Given the description of an element on the screen output the (x, y) to click on. 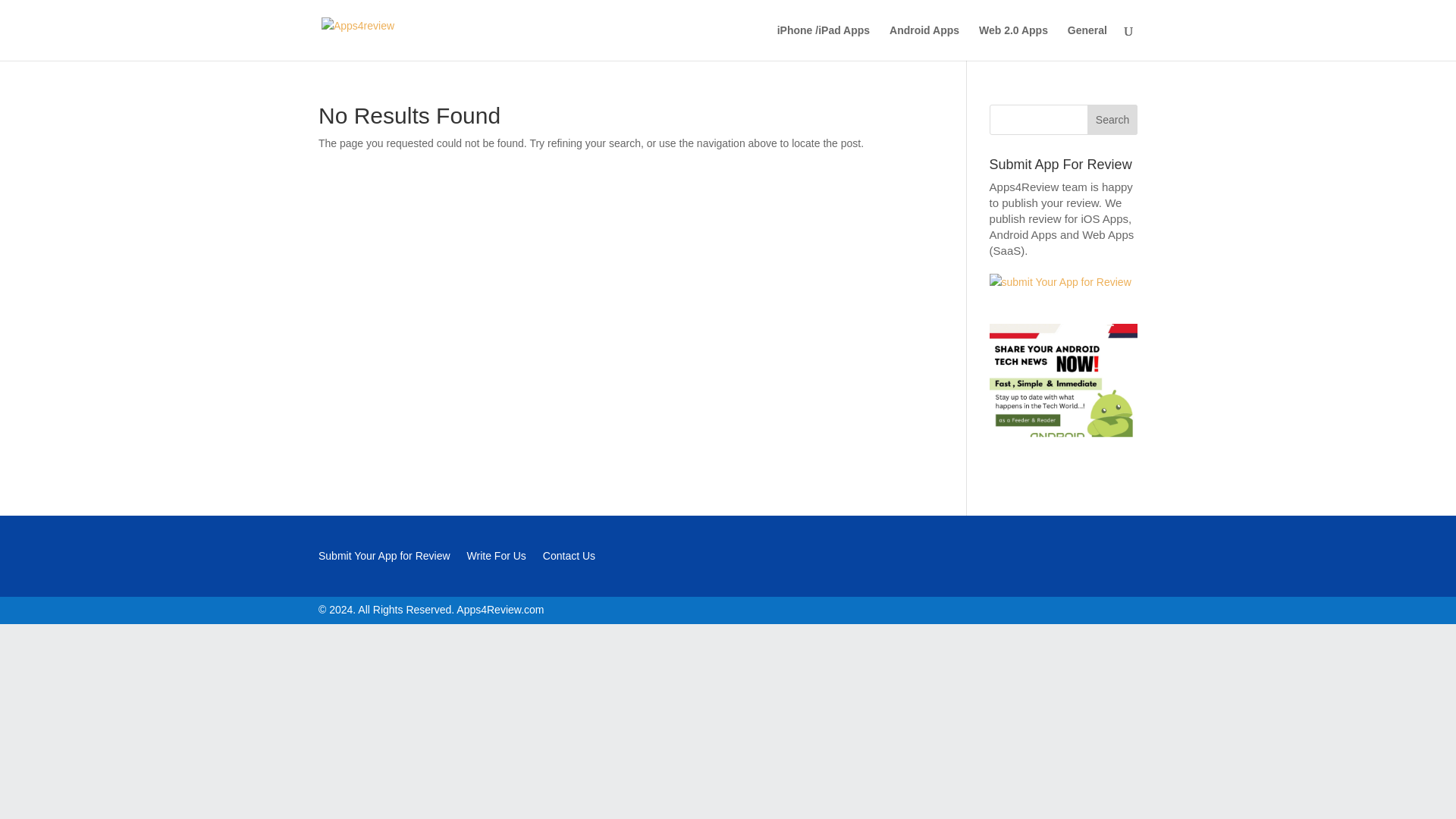
Submit Your App for Review (383, 558)
Web 2.0 Apps (1013, 42)
Contact Us (569, 558)
General (1086, 42)
Android Apps (924, 42)
Search (1112, 119)
Write For Us (496, 558)
Search (1112, 119)
